Given the description of an element on the screen output the (x, y) to click on. 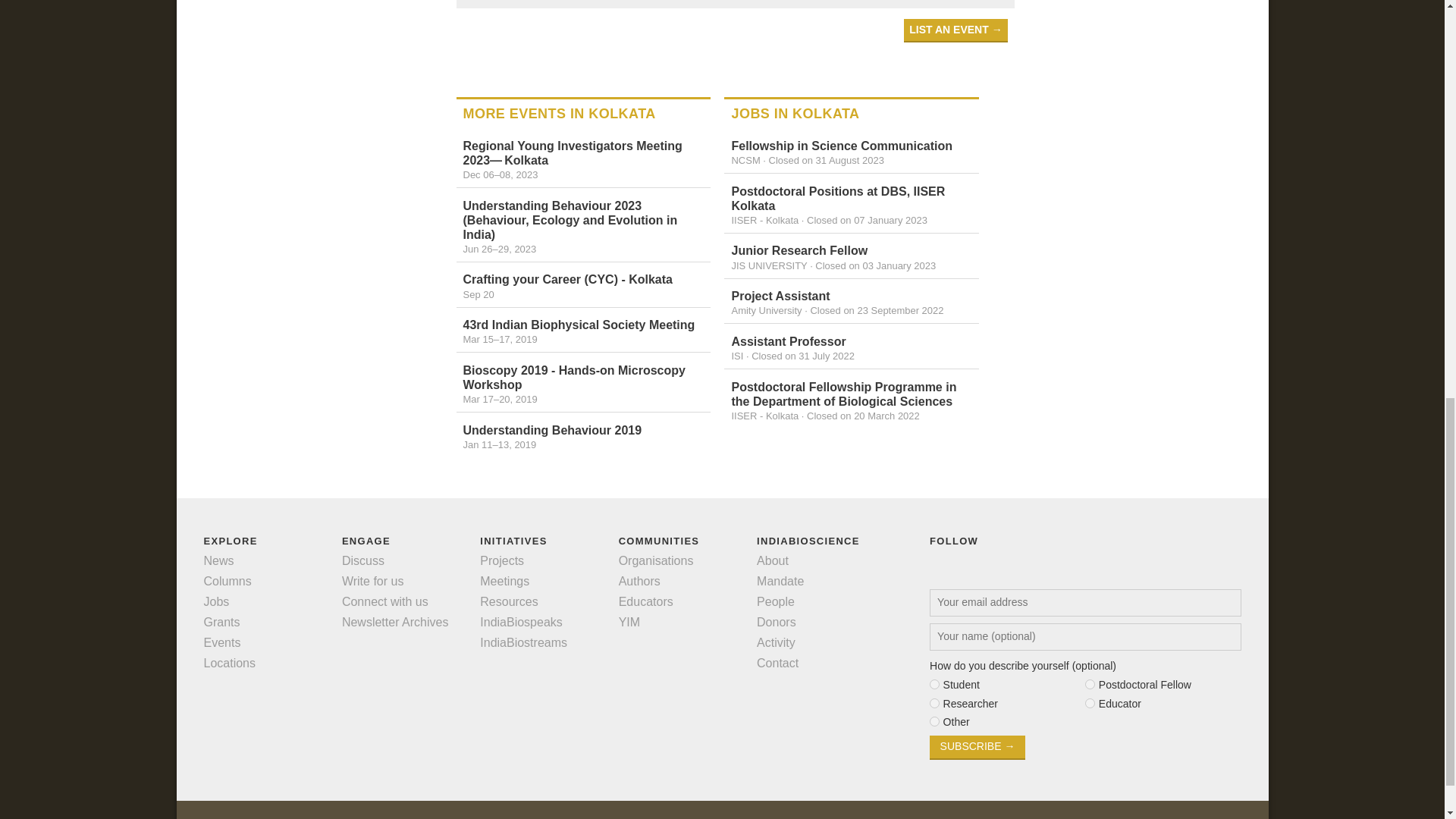
23 September 2022 (876, 310)
Facebook (800, 0)
Twitter (745, 0)
Educator (1089, 702)
3 January 2023 (875, 265)
Whatsapp (827, 0)
Email (854, 0)
Student (934, 684)
31 August 2023 (825, 160)
Other (934, 721)
Researcher (934, 702)
Postdoctoral Fellow (1089, 684)
7 January 2023 (866, 220)
LinkedIn (772, 0)
Telegram (882, 0)
